Given the description of an element on the screen output the (x, y) to click on. 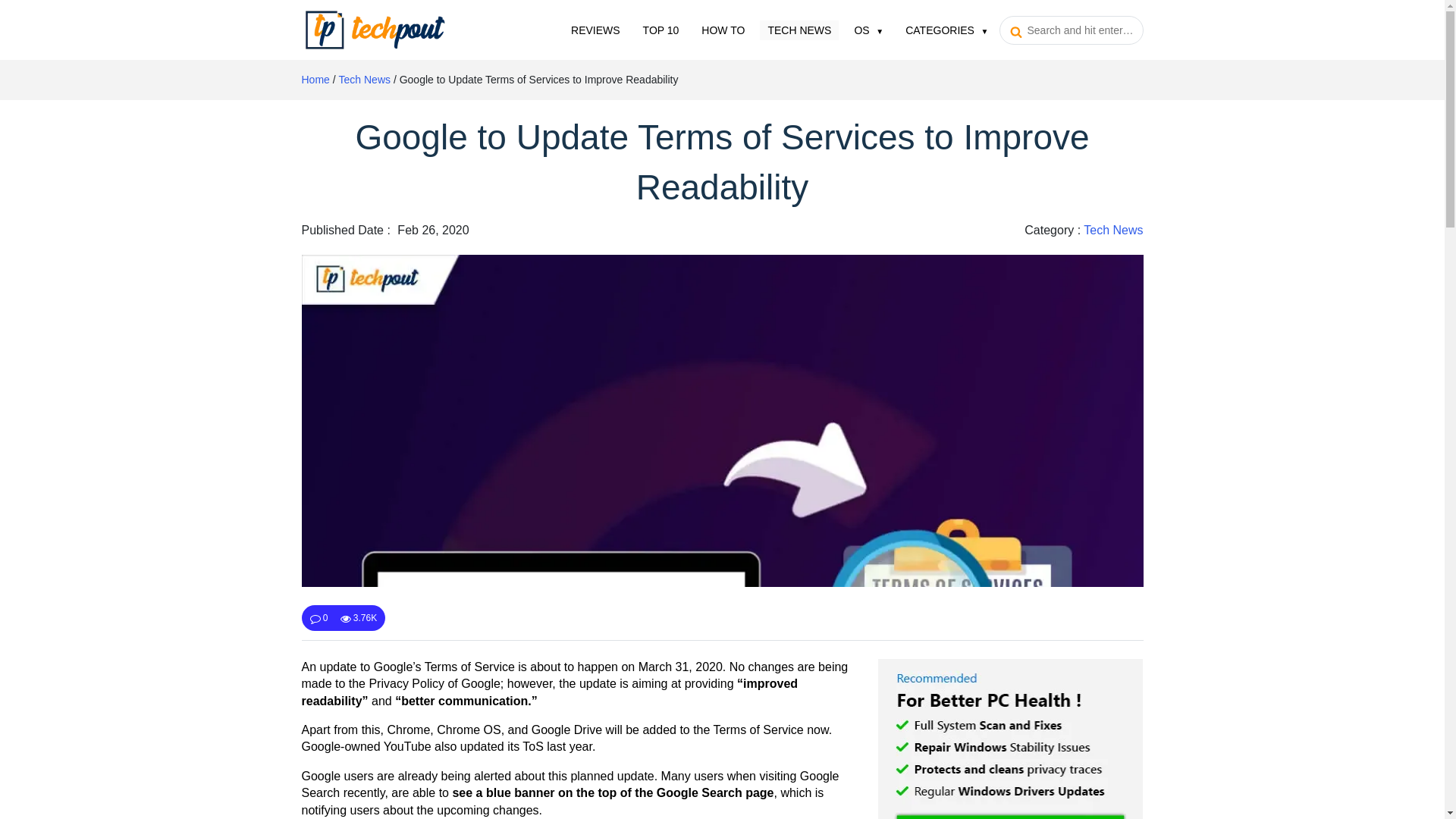
Tech News (799, 29)
CATEGORIES (946, 29)
TOP 10 (660, 29)
Home (315, 79)
REVIEWS (595, 29)
Top 10 (660, 29)
Search for: (1070, 29)
More Categories (946, 29)
HOW TO (723, 29)
TECH NEWS (799, 29)
